Given the description of an element on the screen output the (x, y) to click on. 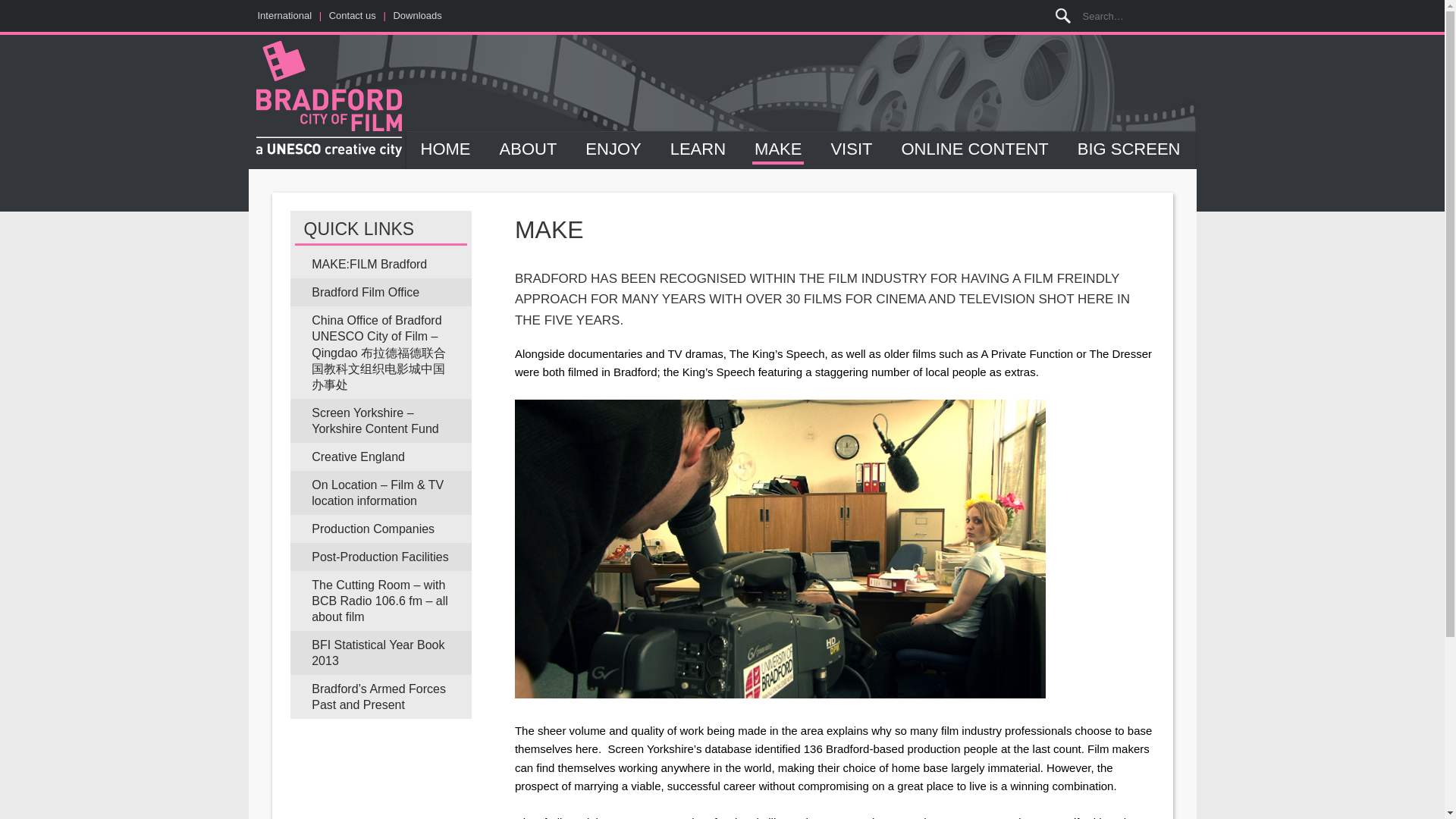
Contact us (352, 15)
International (285, 15)
BIG SCREEN (1128, 150)
MAKE (777, 150)
BFI Statistical Year Book 2013 (379, 652)
MAKE:FILM Bradford (379, 264)
The world's first UNESCO City of Film (328, 100)
HOME (446, 150)
Creative England (379, 456)
ENJOY (613, 150)
